Given the description of an element on the screen output the (x, y) to click on. 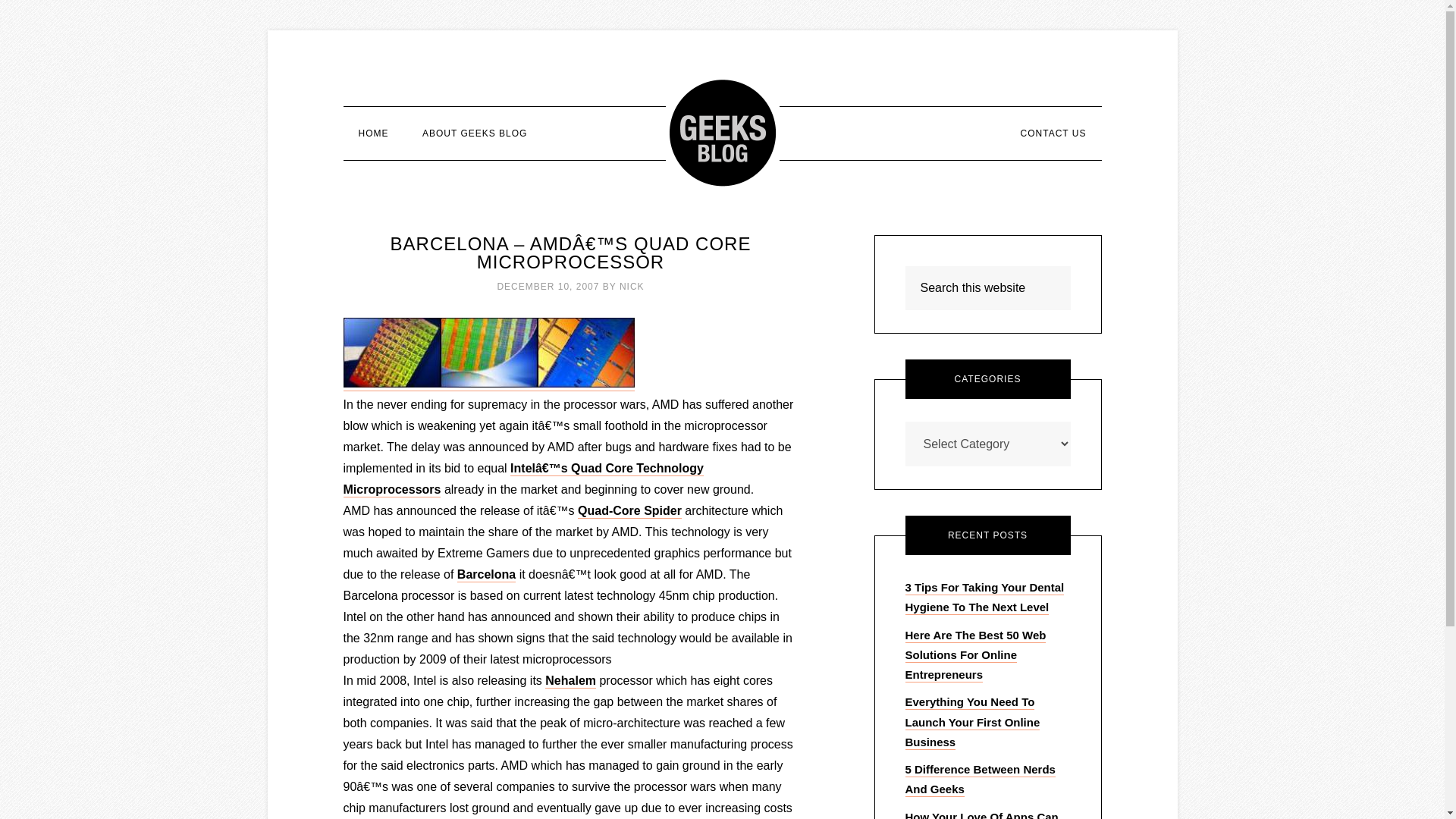
5 Difference Between Nerds And Geeks (980, 779)
core2.jpg (488, 383)
Quad-Core Spider (629, 511)
3 Tips For Taking Your Dental Hygiene To The Next Level (984, 597)
Nehalem (569, 681)
NICK (632, 286)
GEEKS BLOG (721, 132)
ABOUT GEEKS BLOG (474, 133)
